Given the description of an element on the screen output the (x, y) to click on. 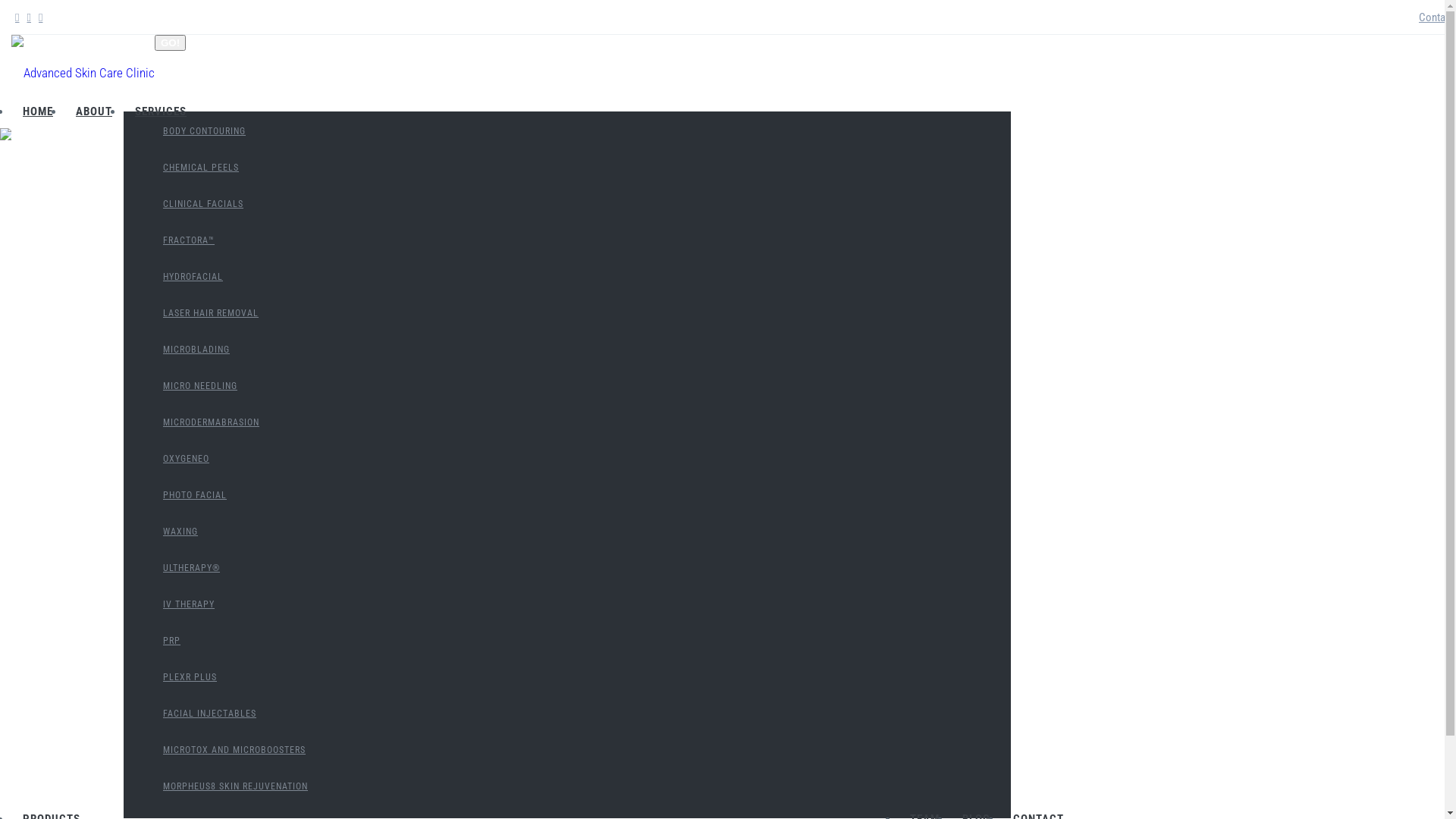
Go! Element type: text (169, 42)
OXYGENEO Element type: text (186, 458)
Contact Element type: text (30, 411)
Contact Element type: text (1435, 17)
SERVICES Element type: text (160, 110)
WAXING Element type: text (180, 531)
HOME Element type: text (37, 110)
CLINICAL FACIALS Element type: text (203, 203)
Products Element type: text (33, 387)
PLEXR PLUS Element type: text (189, 676)
MICRODERMABRASION Element type: text (211, 422)
HYDRODERMPRO Element type: text (99, 537)
PHOTO FACIAL Element type: text (194, 494)
MICRO NEEDLING Element type: text (200, 385)
MICROTOX AND MICROBOOSTERS Element type: text (234, 749)
HYDROFACIAL Element type: text (192, 276)
FACIAL INJECTABLES Element type: text (209, 713)
PRP Element type: text (171, 640)
Online Booking Element type: text (59, 642)
#BROWGOALS Element type: text (92, 460)
Services Element type: text (32, 364)
MICROBLADING Element type: text (196, 349)
CHEMICAL PEELS Element type: text (200, 167)
ABOUT Element type: text (93, 110)
IV THERAPY Element type: text (188, 604)
Skip to main content Element type: text (51, 0)
LASER HAIR REMOVAL Element type: text (210, 312)
BODY CONTOURING Element type: text (204, 130)
MORPHEUS8 SKIN REJUVENATION Element type: text (235, 786)
Home Element type: text (25, 317)
About Element type: text (25, 340)
